Given the description of an element on the screen output the (x, y) to click on. 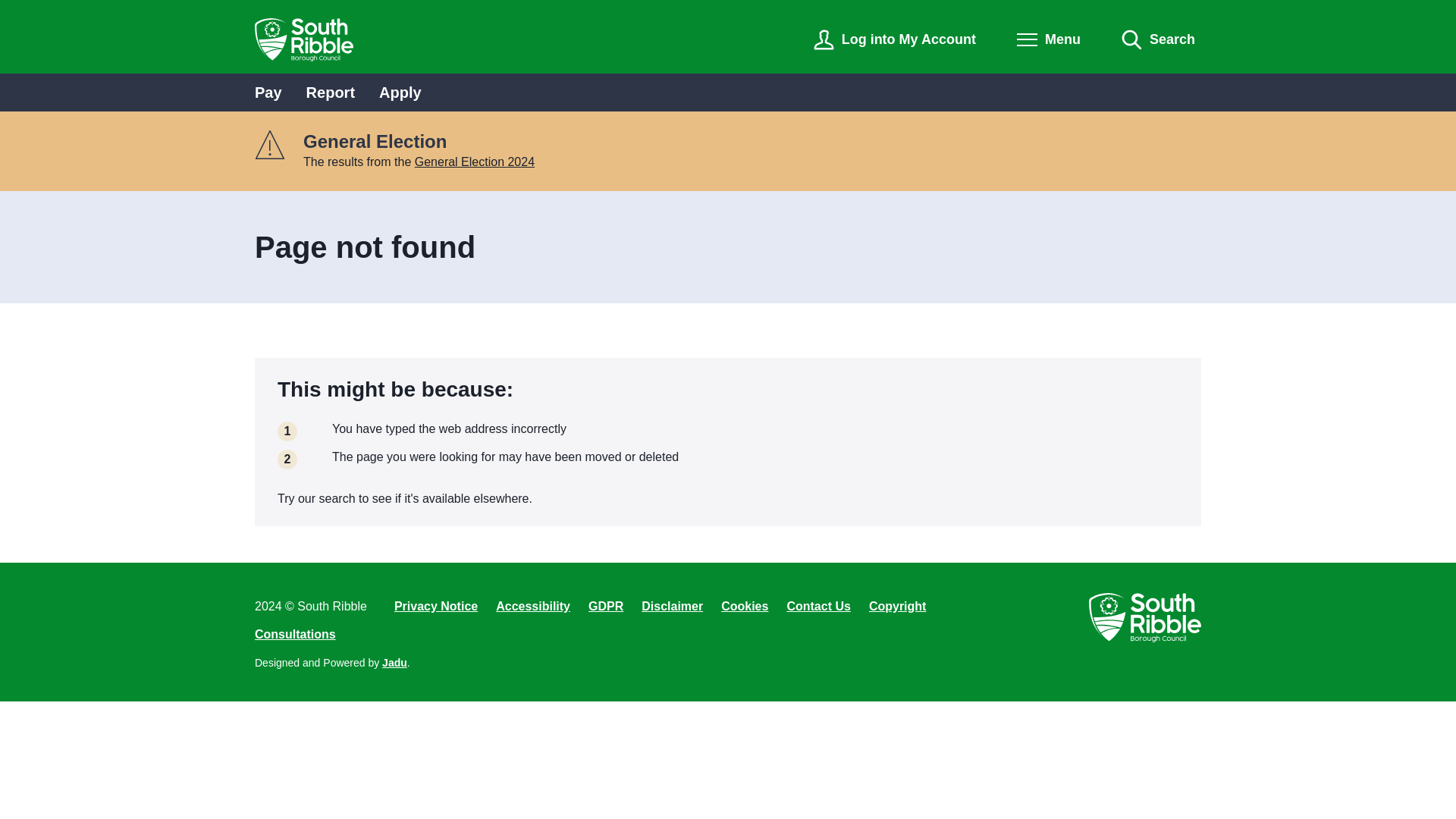
Cookies (744, 606)
Disclaimer (672, 606)
Search (1158, 39)
Privacy Notice (435, 606)
GDPR (605, 606)
Accessibility (533, 606)
Report (330, 92)
Log into My Account (894, 39)
Contact Us (818, 606)
General Election 2024 (474, 162)
Apply (400, 92)
Pay (268, 92)
Menu (1048, 39)
